Given the description of an element on the screen output the (x, y) to click on. 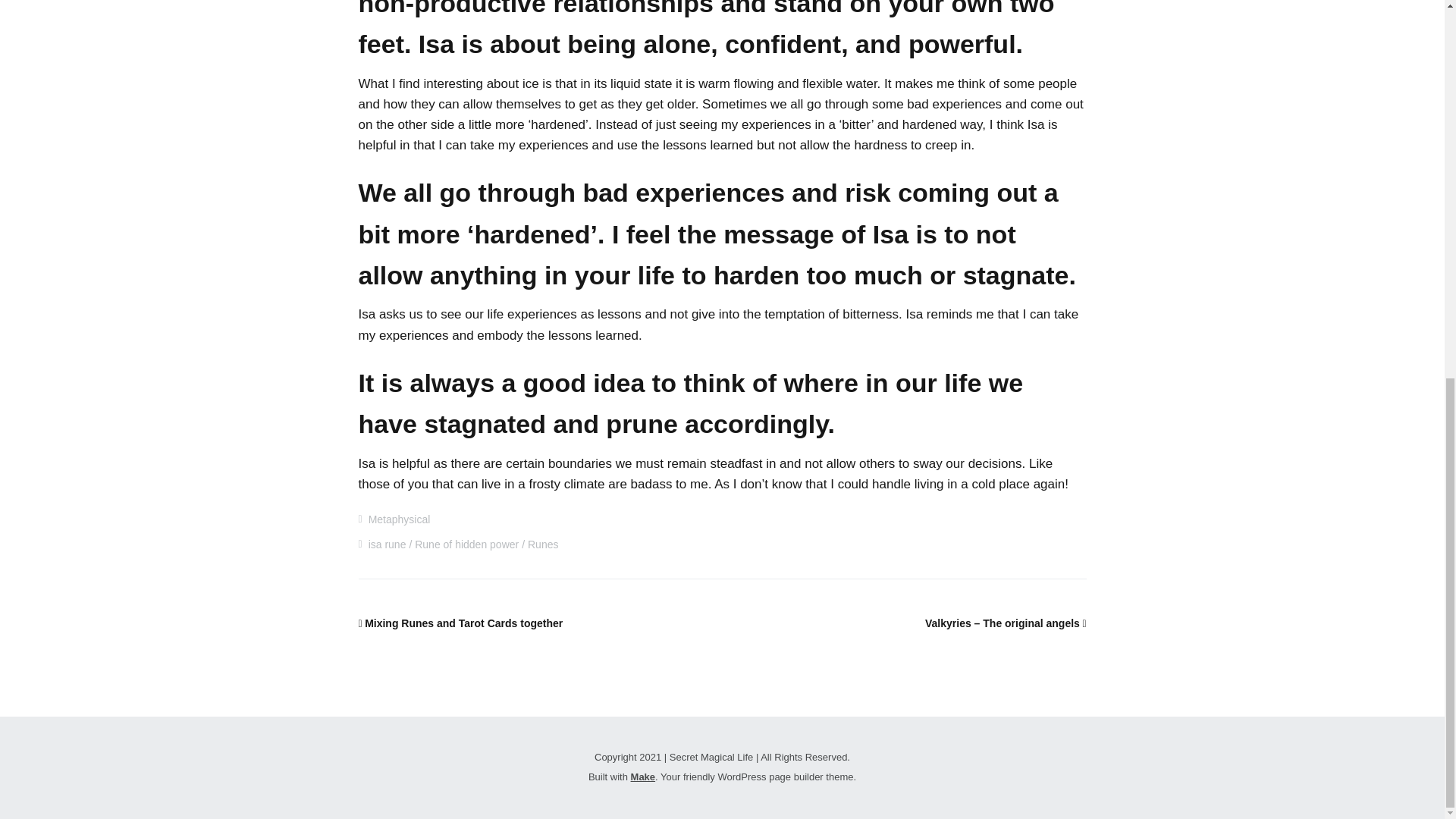
Runes (542, 544)
Metaphysical (399, 519)
Make (643, 776)
Mixing Runes and Tarot Cards together (460, 623)
isa rune (387, 544)
Rune of hidden power (466, 544)
